Given the description of an element on the screen output the (x, y) to click on. 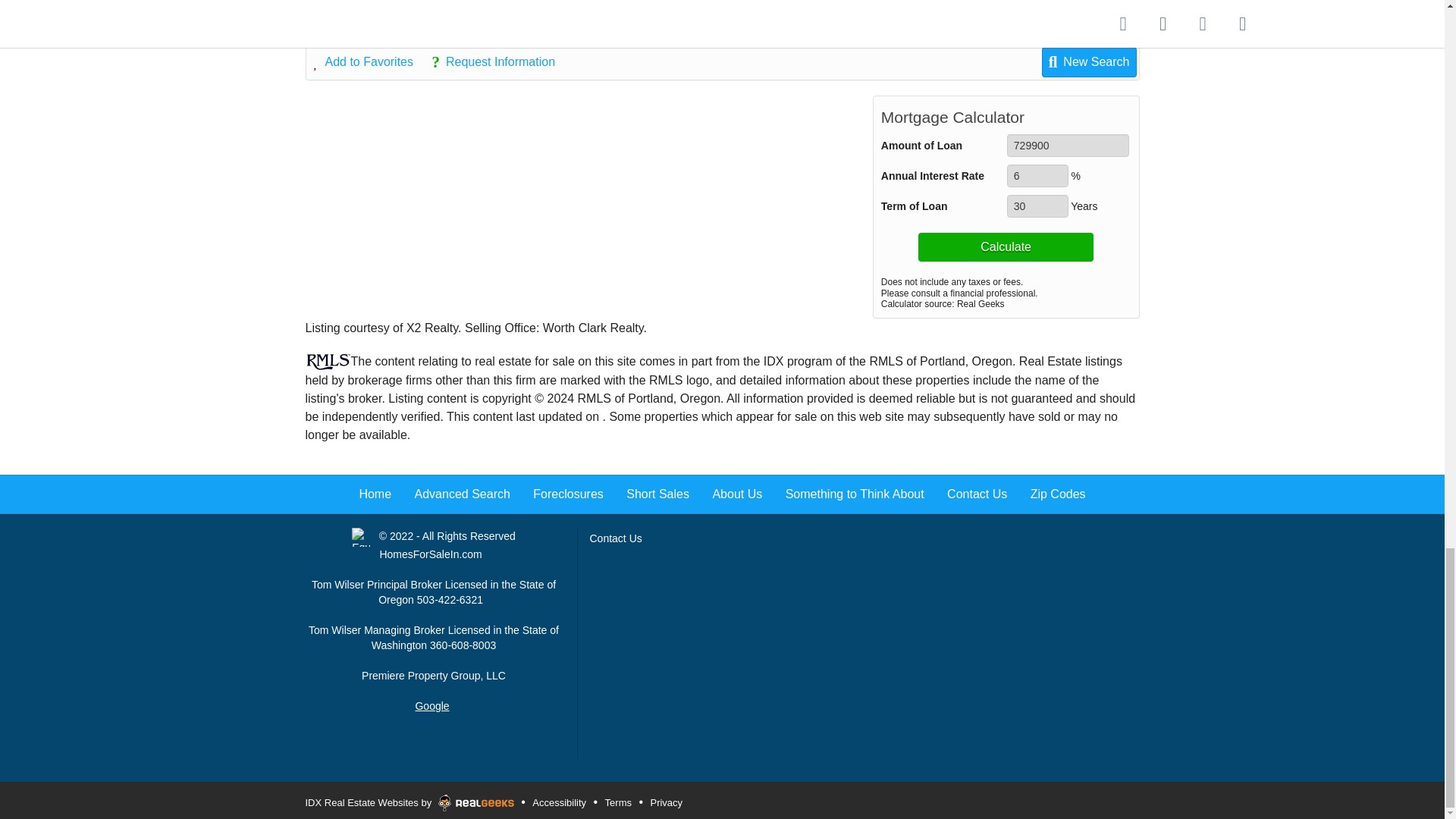
30 (1037, 205)
6 (1037, 175)
729900 (1068, 145)
